Given the description of an element on the screen output the (x, y) to click on. 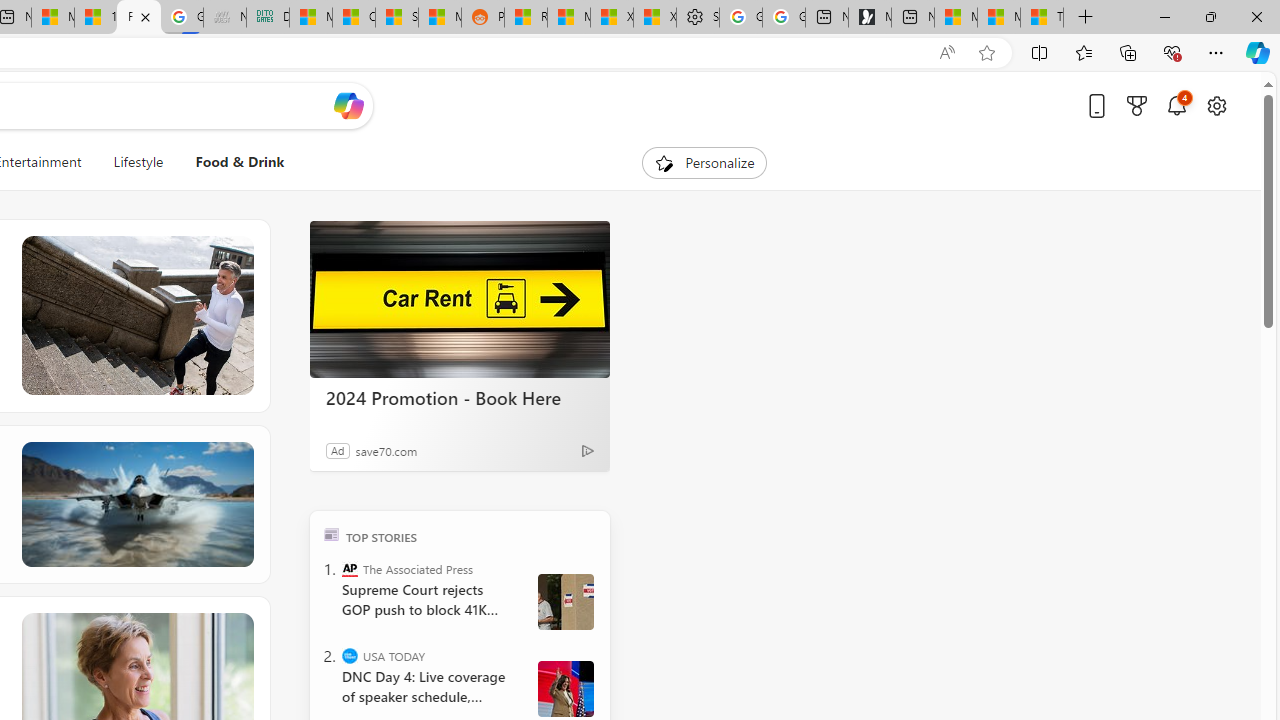
2024 Promotion - Book Here (459, 299)
DITOGAMES AG Imprint (268, 17)
Lifestyle (137, 162)
Food & Drink (232, 162)
TOP (331, 534)
MSN (439, 17)
Microsoft rewards (1137, 105)
